Given the description of an element on the screen output the (x, y) to click on. 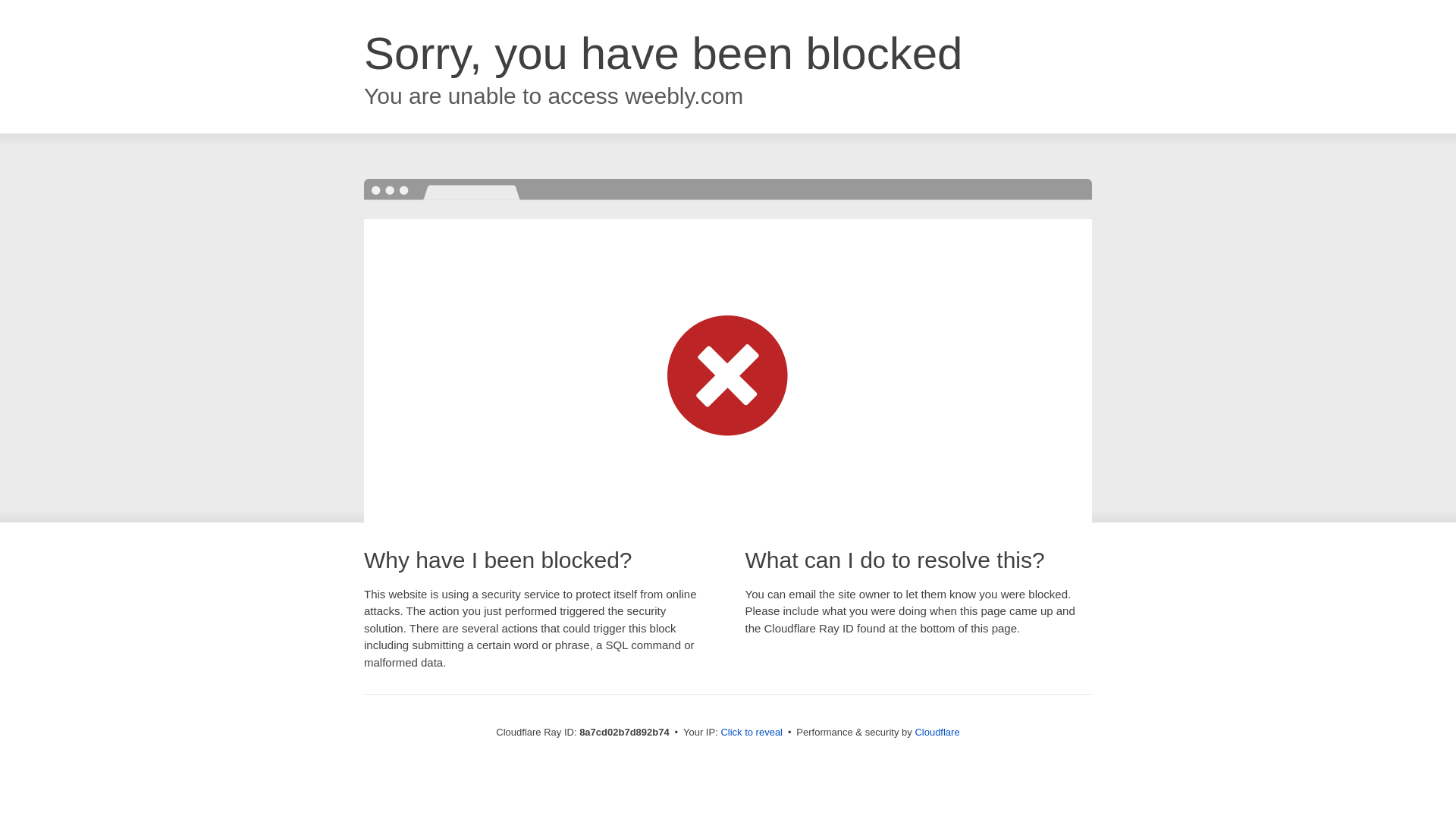
Click to reveal (751, 732)
Cloudflare (936, 731)
